Given the description of an element on the screen output the (x, y) to click on. 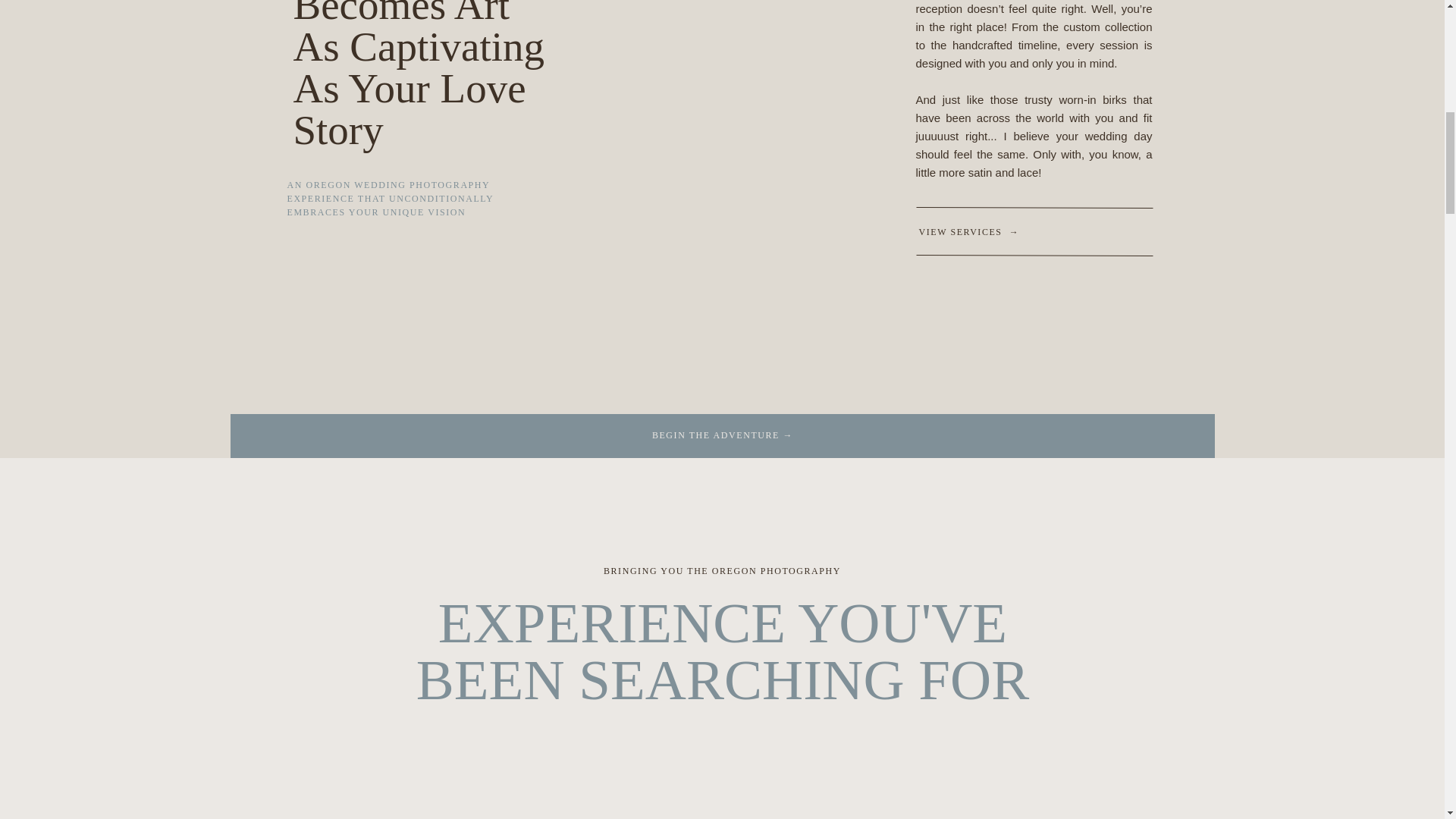
iSkwWzeyobg (722, 781)
